Given the description of an element on the screen output the (x, y) to click on. 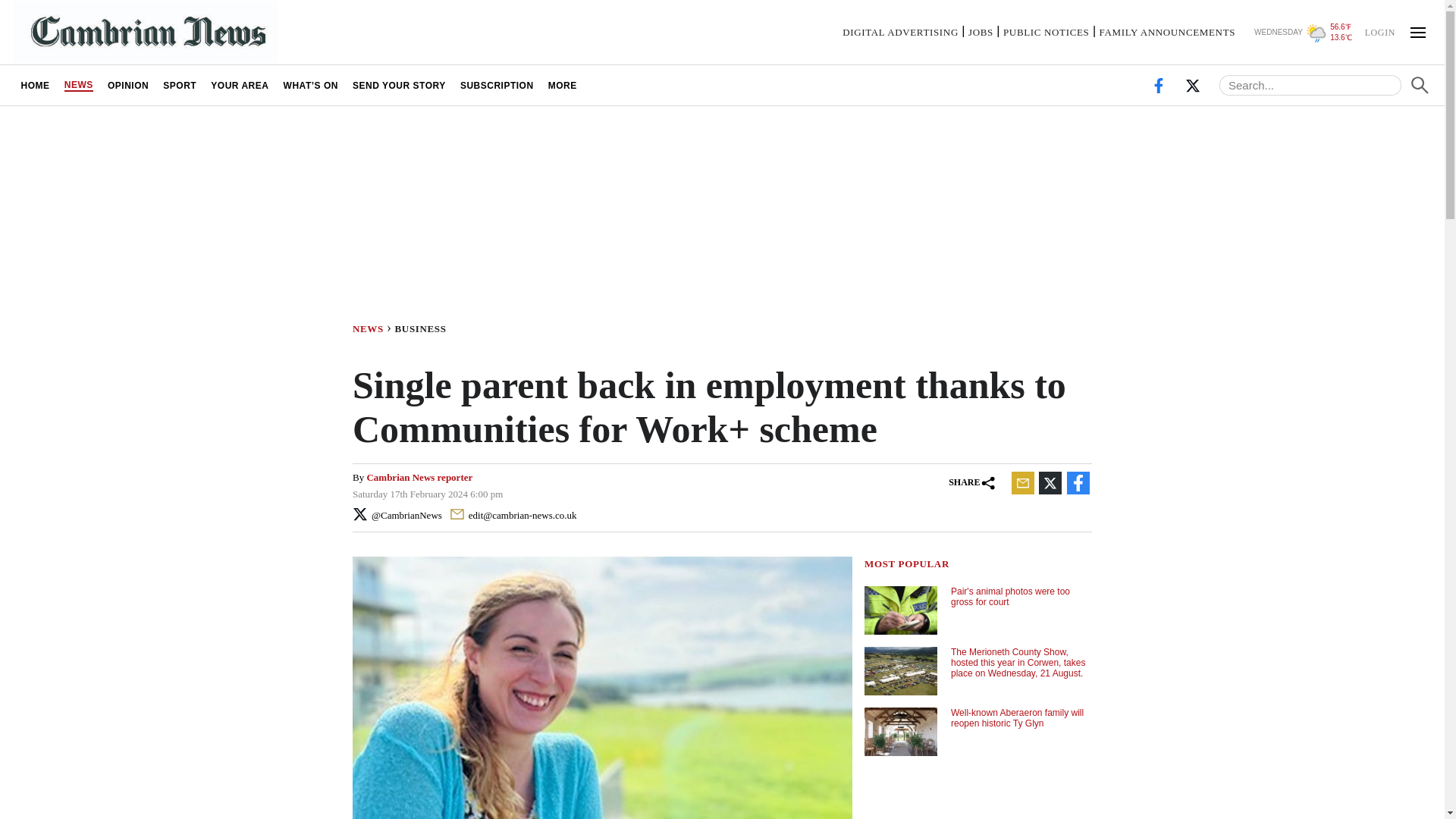
MORE (561, 85)
NEWS (373, 328)
Cambrian News reporter (418, 477)
LOGIN (1379, 31)
FAMILY ANNOUNCEMENTS (1166, 32)
BUSINESS (423, 328)
NEWS (78, 85)
YOUR AREA (239, 85)
HOME (34, 85)
SEND YOUR STORY (398, 85)
